Given the description of an element on the screen output the (x, y) to click on. 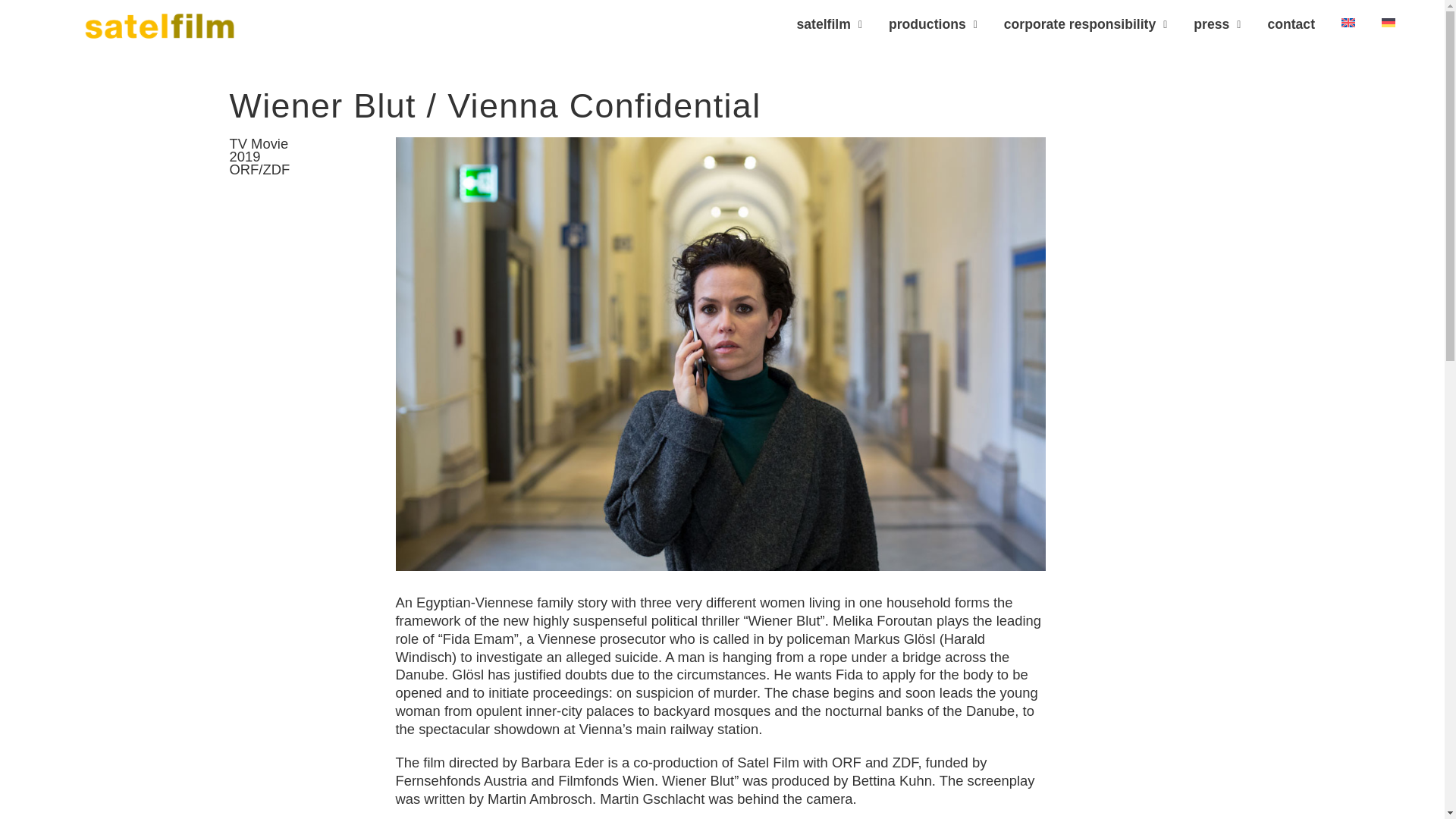
satelfilm (830, 24)
corporate responsibility (1085, 24)
productions (932, 24)
contact (1290, 24)
press (1217, 24)
